Given the description of an element on the screen output the (x, y) to click on. 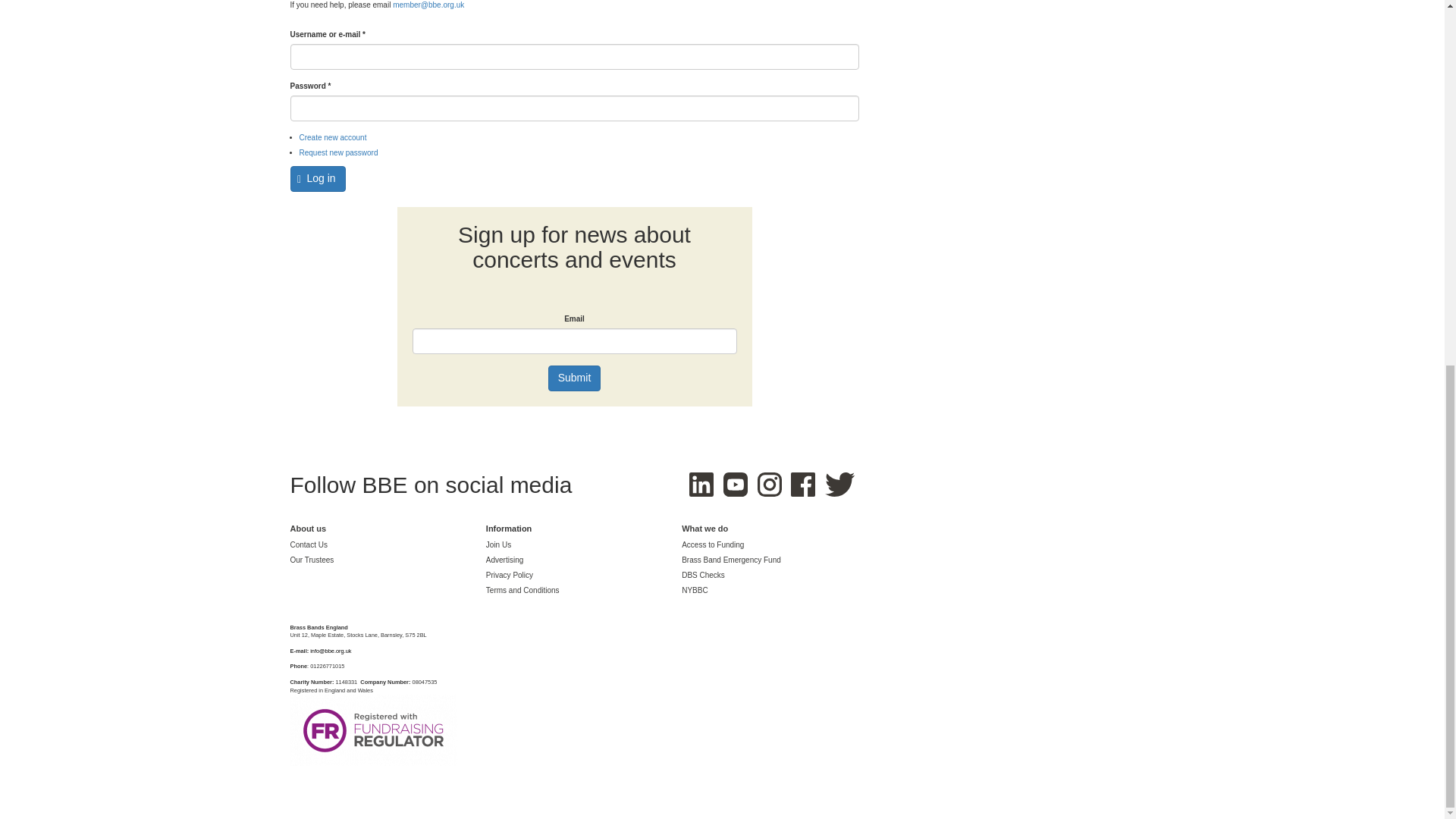
Create new account (332, 137)
Log in (317, 178)
Request new password via e-mail. (337, 152)
Submit (574, 378)
Create a new user account. (332, 137)
About us (307, 529)
Request new password (337, 152)
